Given the description of an element on the screen output the (x, y) to click on. 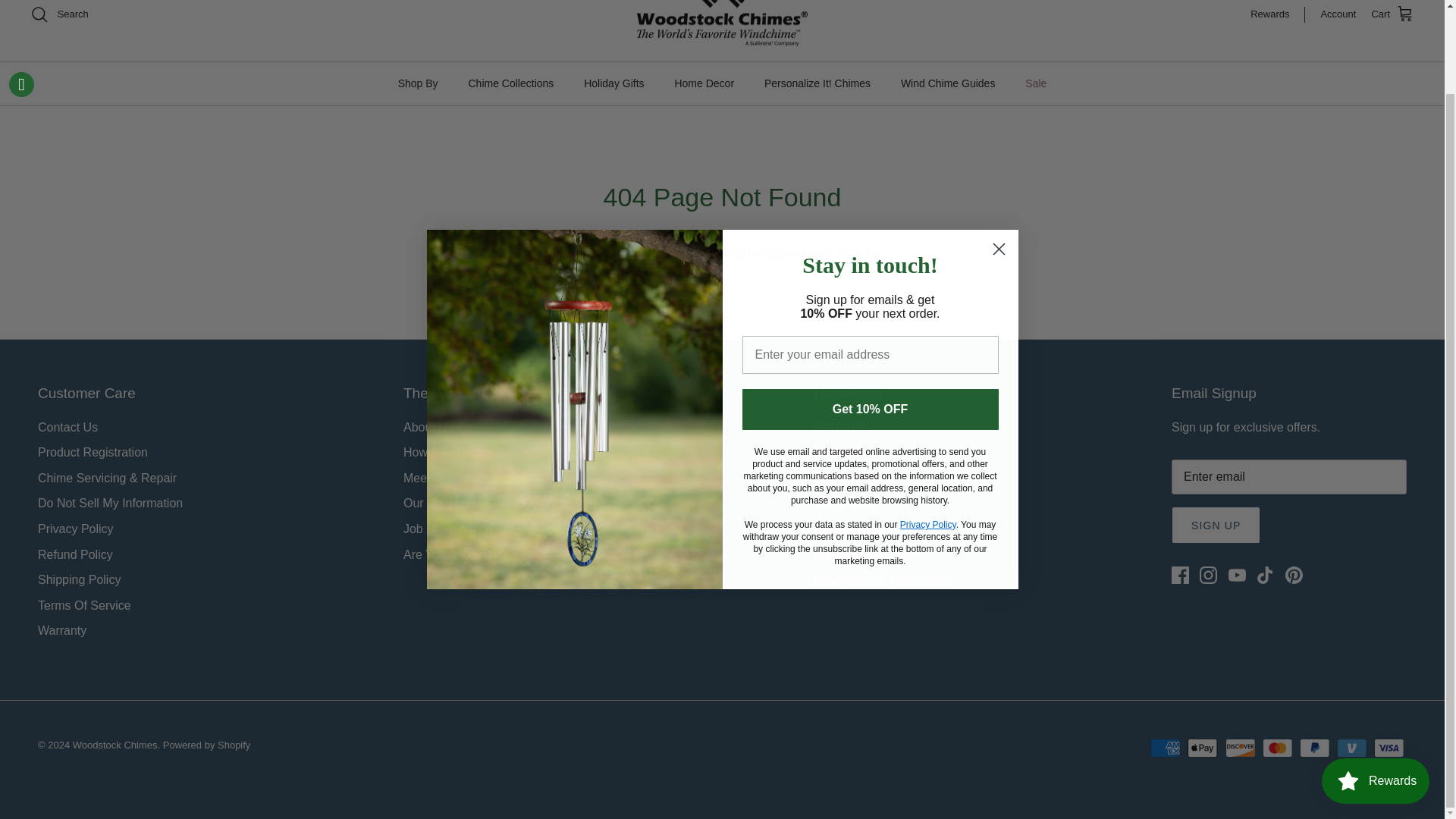
Woodstock Chimes (722, 23)
Visa (1388, 747)
Close dialog 1 (998, 153)
Smile.io Rewards Program Launcher (1375, 686)
Search (59, 13)
Pinterest (1294, 574)
Shop By (417, 83)
Venmo (1351, 747)
PayPal (1314, 747)
Youtube (1237, 574)
Facebook (1180, 574)
American Express (1165, 747)
Rewards (1277, 14)
Cart (1392, 14)
Discover (1240, 747)
